Given the description of an element on the screen output the (x, y) to click on. 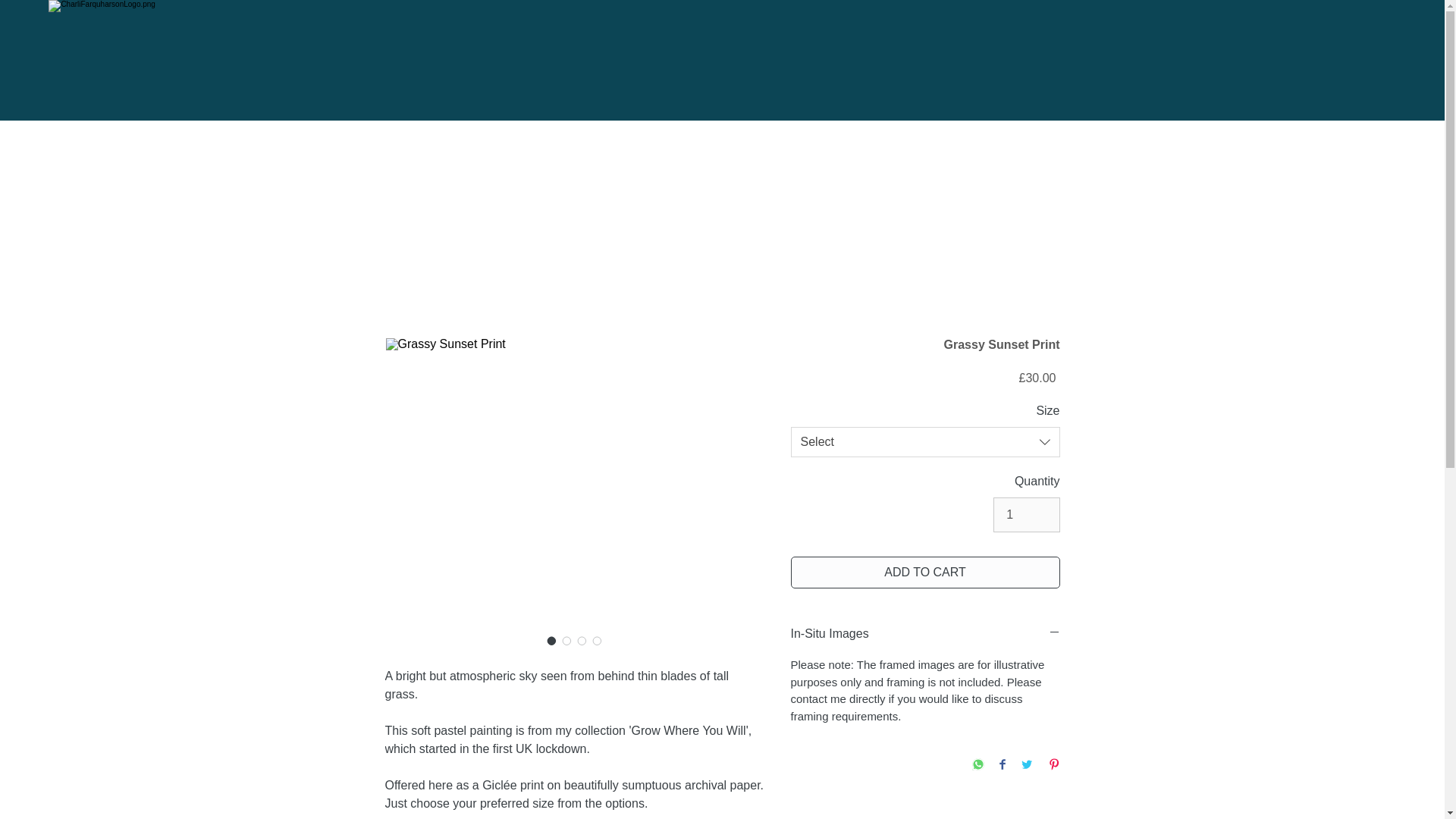
1 (1025, 514)
ADD TO CART (924, 572)
Select (924, 441)
In-Situ Images (924, 633)
